Given the description of an element on the screen output the (x, y) to click on. 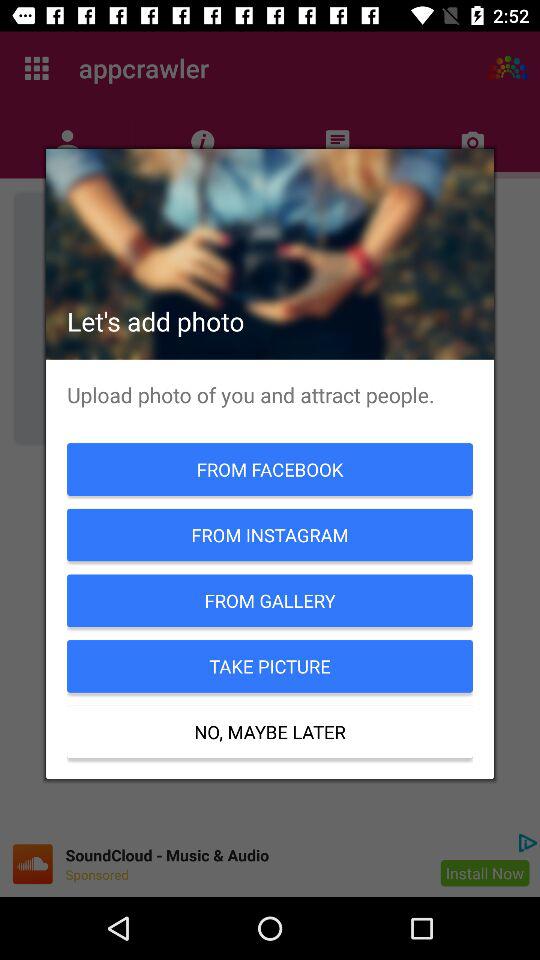
choose from instagram item (269, 534)
